Given the description of an element on the screen output the (x, y) to click on. 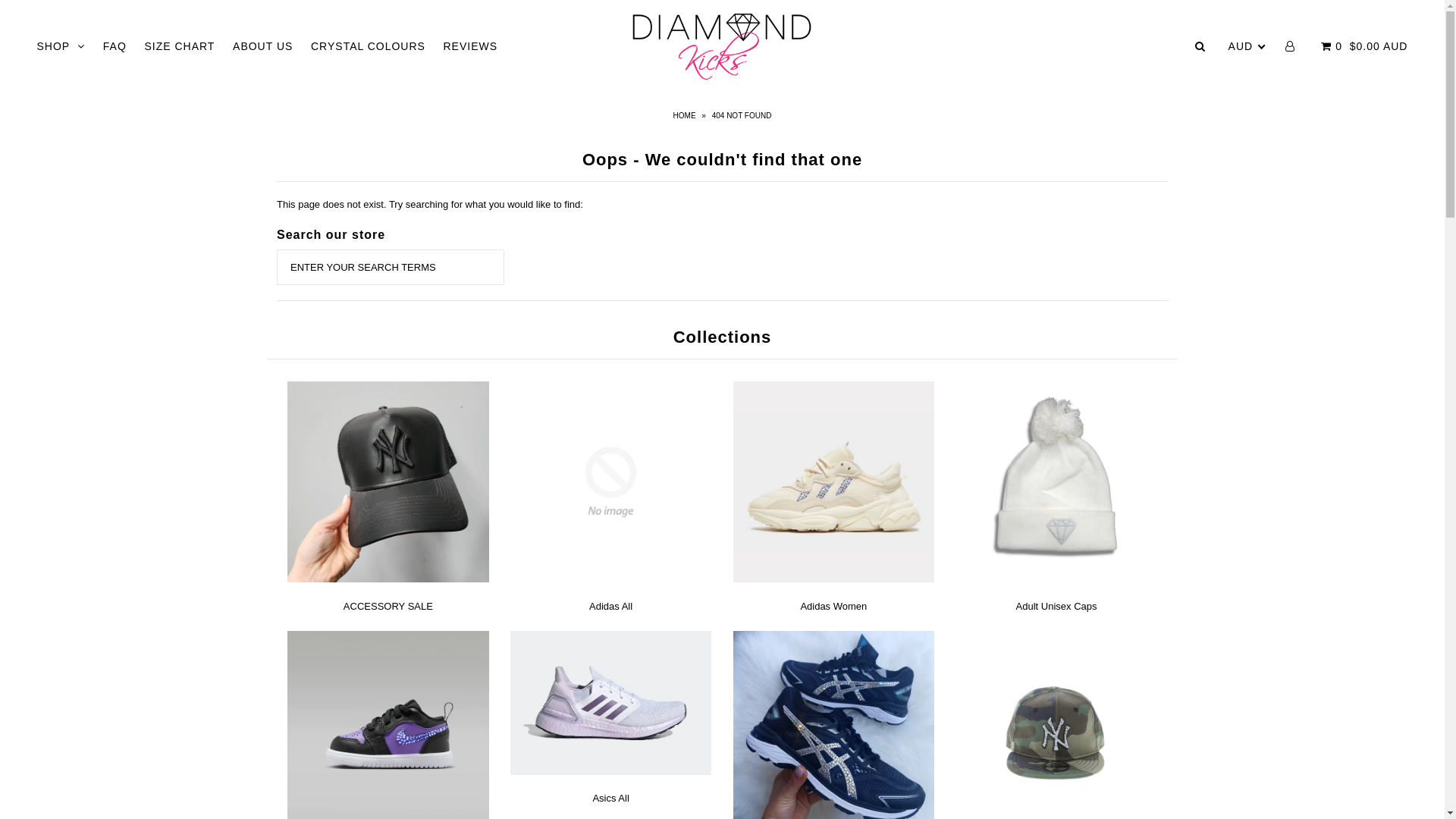
Asics All Element type: text (610, 797)
SHOP Element type: text (60, 46)
HOME Element type: text (686, 114)
ACCESSORY SALE Element type: text (388, 605)
SIZE CHART Element type: text (179, 46)
Adult Unisex Caps Element type: text (1056, 605)
FAQ Element type: text (114, 46)
  0  $0.00 Element type: text (1376, 46)
SuperRep Go 3 Flyknit Women (Blue/Pink) Element type: text (139, 789)
REVIEWS Element type: text (470, 46)
ABOUT US Element type: text (262, 46)
Adidas Women Element type: text (833, 605)
Adidas All Element type: text (610, 605)
CRYSTAL COLOURS Element type: text (368, 46)
